Given the description of an element on the screen output the (x, y) to click on. 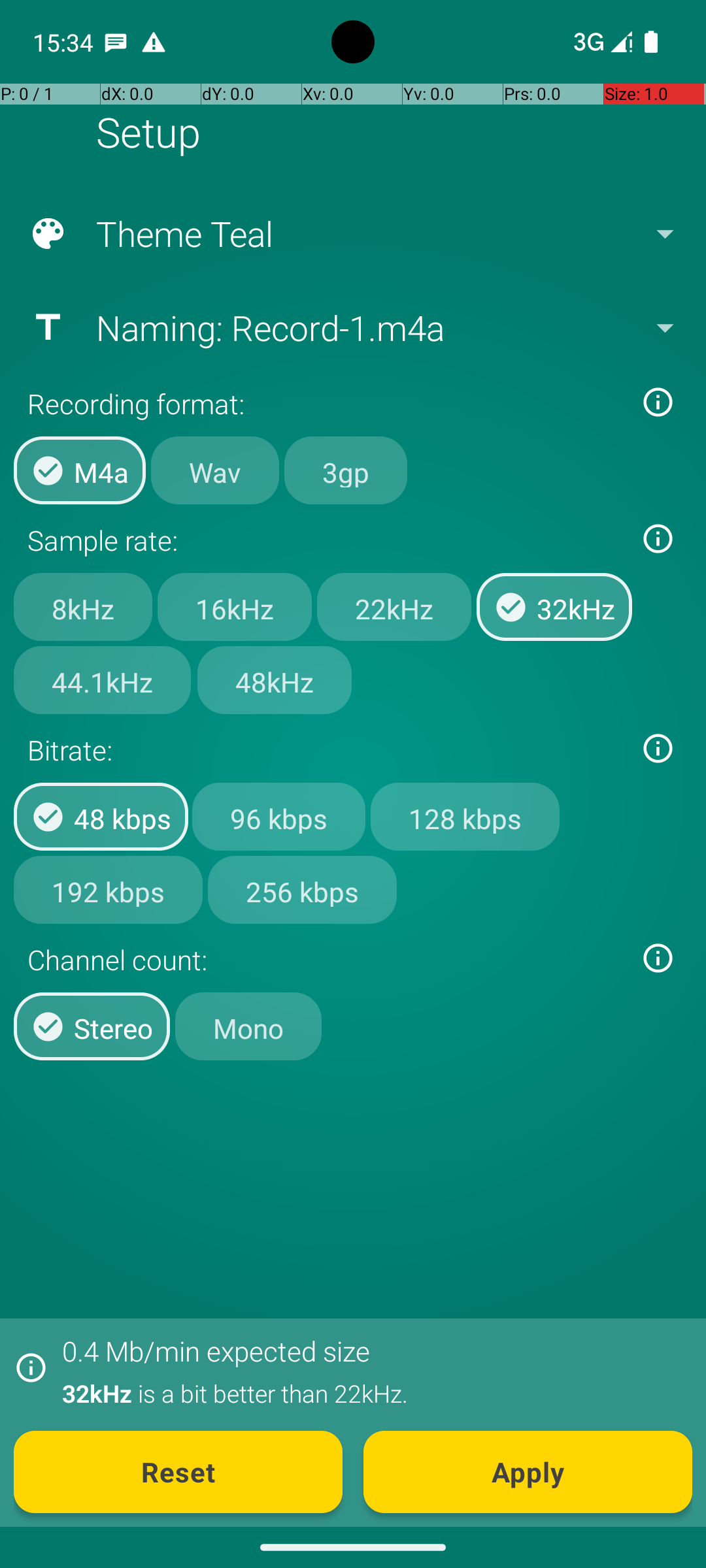
0.4 Mb/min expected size Element type: android.widget.TextView (215, 1350)
32kHz is a bit better than 22kHz. Element type: android.widget.TextView (370, 1392)
Reset Element type: android.widget.Button (177, 1471)
Apply Element type: android.widget.Button (527, 1471)
Setup Element type: android.widget.TextView (148, 131)
Recording format: Element type: android.widget.TextView (325, 403)
M4a Element type: android.widget.TextView (79, 470)
Wav Element type: android.widget.TextView (215, 470)
3gp Element type: android.widget.TextView (345, 470)
Sample rate: Element type: android.widget.TextView (325, 539)
44.1kHz Element type: android.widget.TextView (101, 680)
32kHz Element type: android.widget.TextView (554, 606)
16kHz Element type: android.widget.TextView (234, 606)
22kHz Element type: android.widget.TextView (394, 606)
48kHz Element type: android.widget.TextView (274, 680)
8kHz Element type: android.widget.TextView (82, 606)
Bitrate: Element type: android.widget.TextView (325, 749)
128 kbps Element type: android.widget.TextView (464, 816)
192 kbps Element type: android.widget.TextView (107, 889)
256 kbps Element type: android.widget.TextView (301, 889)
48 kbps Element type: android.widget.TextView (100, 816)
96 kbps Element type: android.widget.TextView (278, 816)
Channel count: Element type: android.widget.TextView (325, 959)
Stereo Element type: android.widget.TextView (91, 1026)
Mono Element type: android.widget.TextView (248, 1026)
Theme Teal Element type: android.widget.TextView (352, 233)
Naming: Record-1.m4a Element type: android.widget.TextView (352, 327)
SMS Messenger notification:  Element type: android.widget.ImageView (115, 41)
Phone three bars. Element type: android.widget.FrameLayout (600, 41)
